Given the description of an element on the screen output the (x, y) to click on. 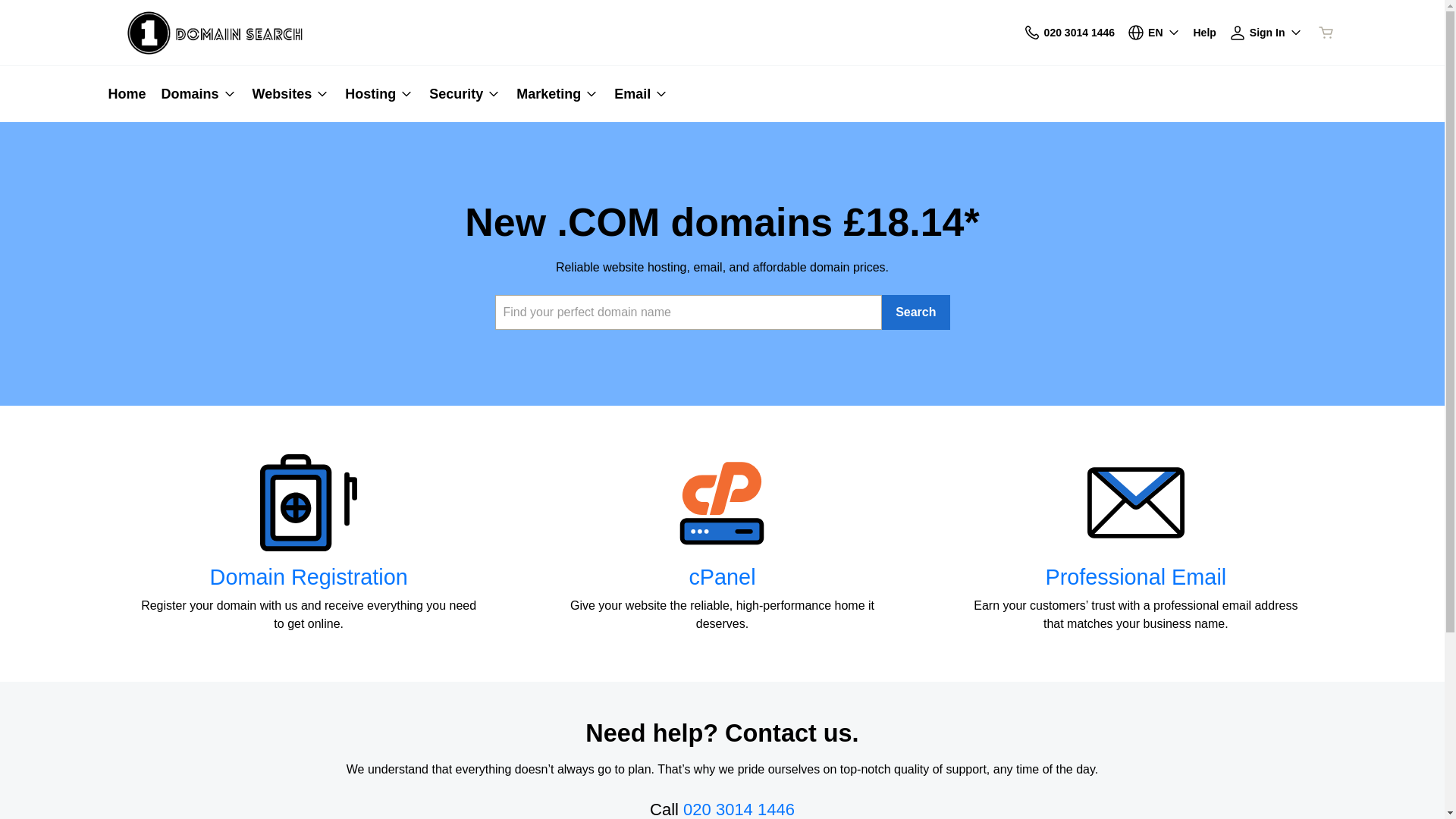
Professional Email Element type: text (1135, 576)
cPanel Element type: text (721, 576)
Sign In Element type: text (1265, 32)
Websites Element type: text (291, 93)
Hosting Element type: text (379, 93)
EN Element type: text (1153, 32)
Home Element type: text (130, 93)
Email Element type: text (637, 93)
Contact Us Element type: hover (1031, 32)
020 3014 1446 Element type: text (1068, 32)
Marketing Element type: text (557, 93)
Help Element type: text (1204, 32)
Domains Element type: text (198, 93)
Domain Registration Element type: text (308, 576)
Search Element type: text (915, 311)
Security Element type: text (464, 93)
